Given the description of an element on the screen output the (x, y) to click on. 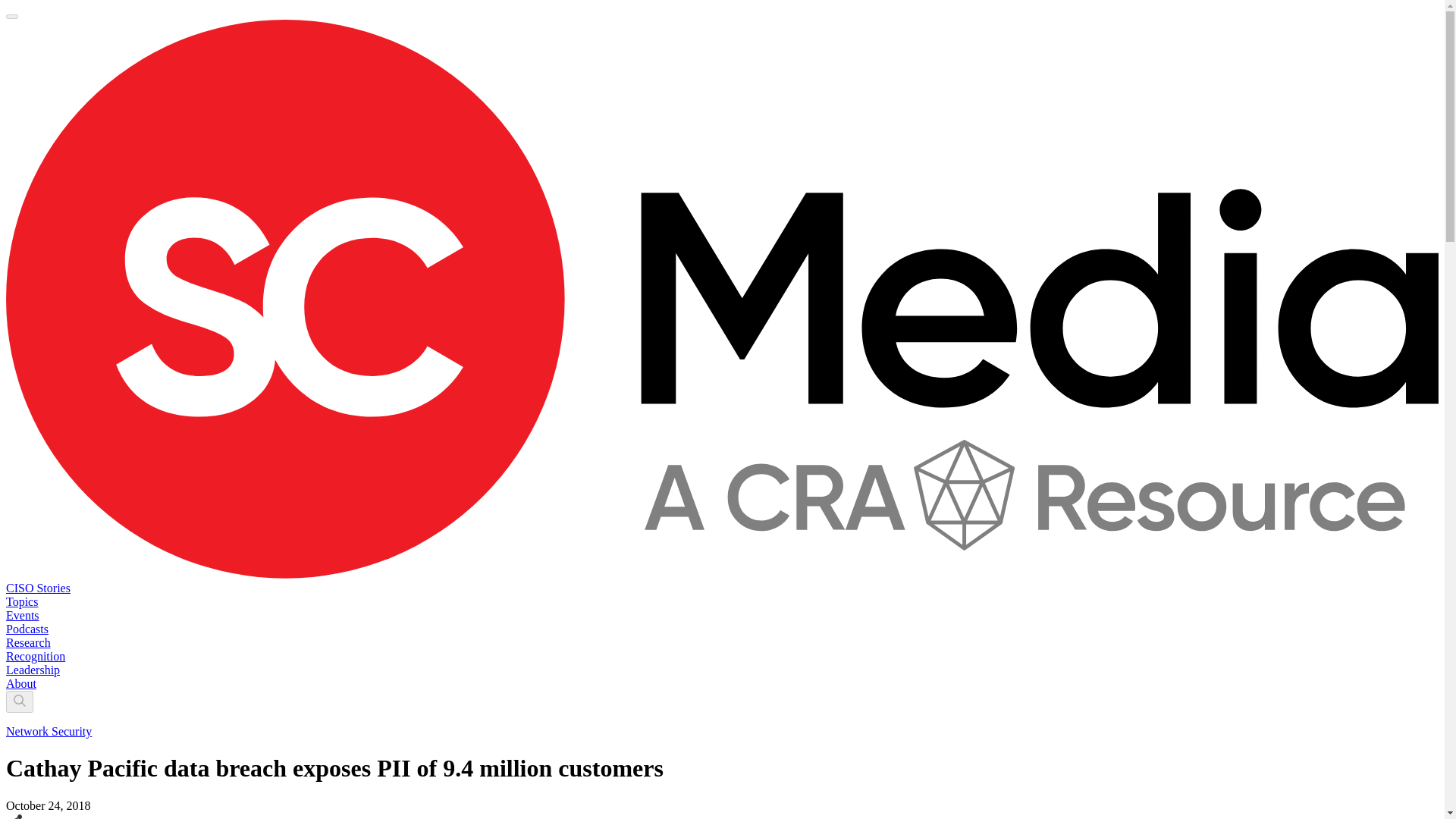
CISO Stories (37, 587)
Network Security (48, 730)
Podcasts (26, 628)
Leadership (32, 669)
Events (22, 615)
Topics (21, 601)
Recognition (35, 656)
Research (27, 642)
About (20, 683)
